Given the description of an element on the screen output the (x, y) to click on. 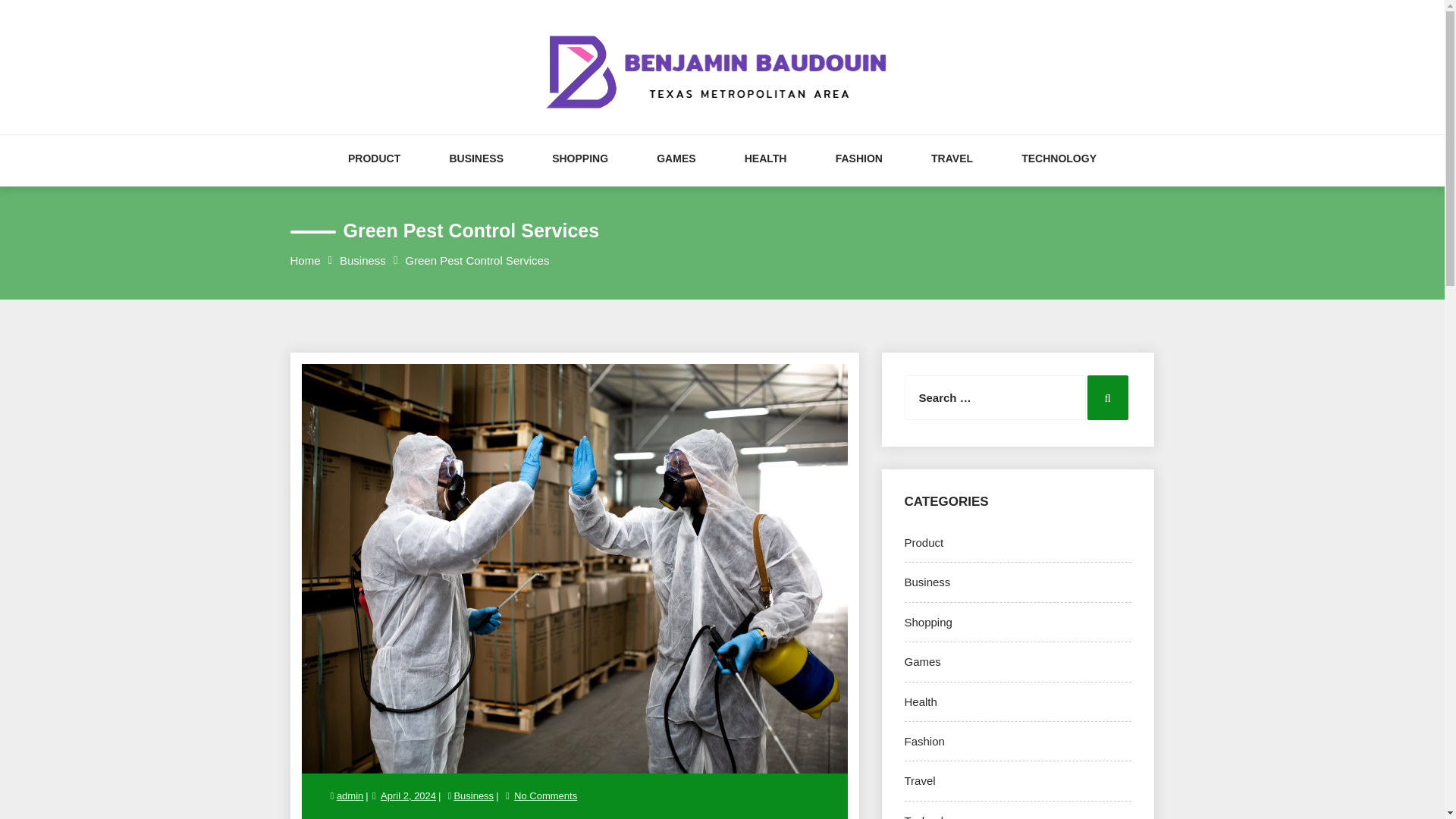
Health (920, 701)
Home (304, 259)
admin (350, 795)
Technology (932, 816)
HEALTH (765, 174)
Travel (919, 780)
TECHNOLOGY (1059, 174)
Business (473, 795)
Shopping (928, 621)
Business (927, 581)
BUSINESS (475, 174)
April 2, 2024 (408, 795)
Business (362, 259)
Search (1107, 397)
Product (923, 542)
